Given the description of an element on the screen output the (x, y) to click on. 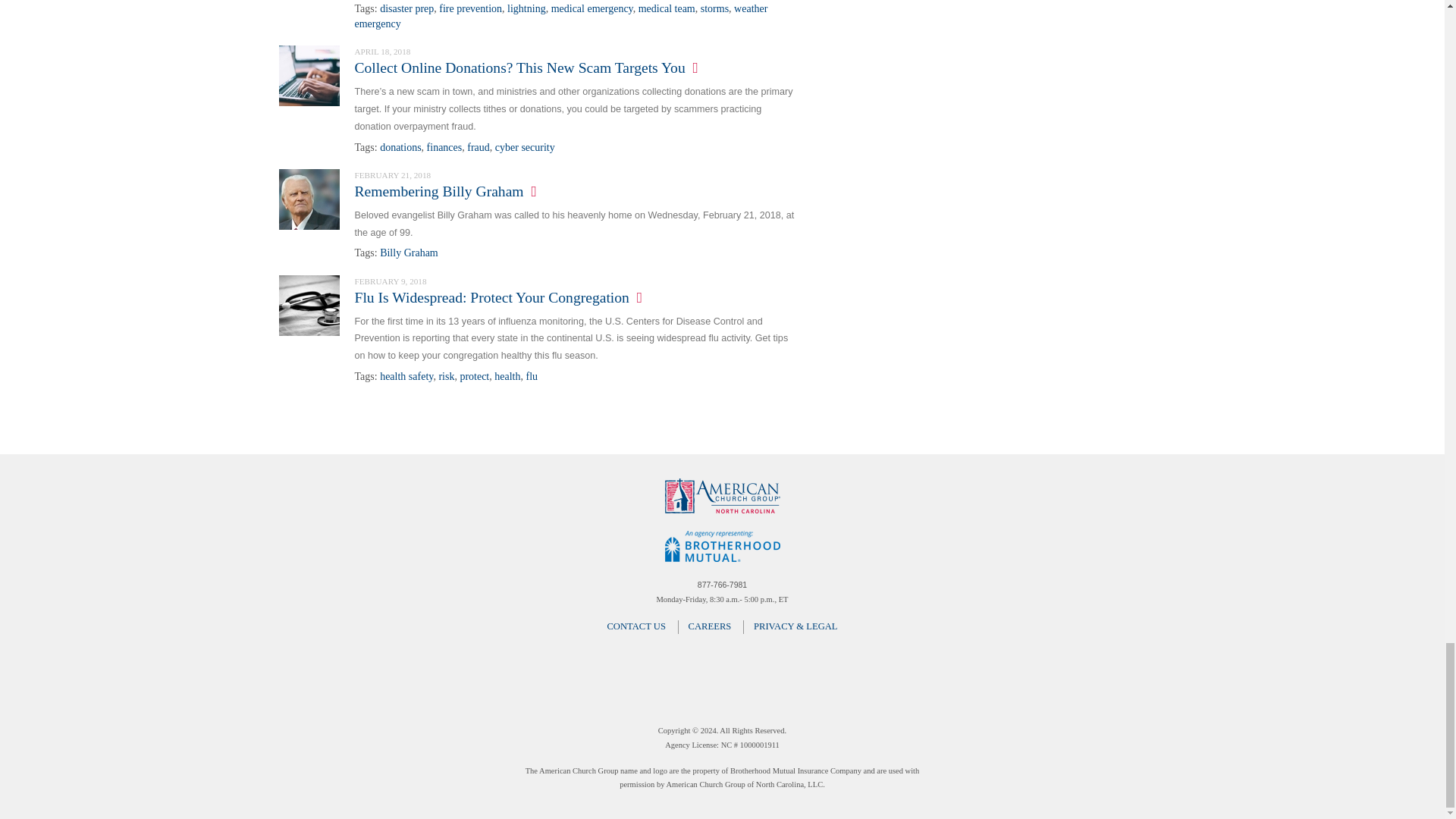
Remembering Billy Graham (309, 197)
Collect Online Donations? This New Scam Targets You (309, 75)
